Given the description of an element on the screen output the (x, y) to click on. 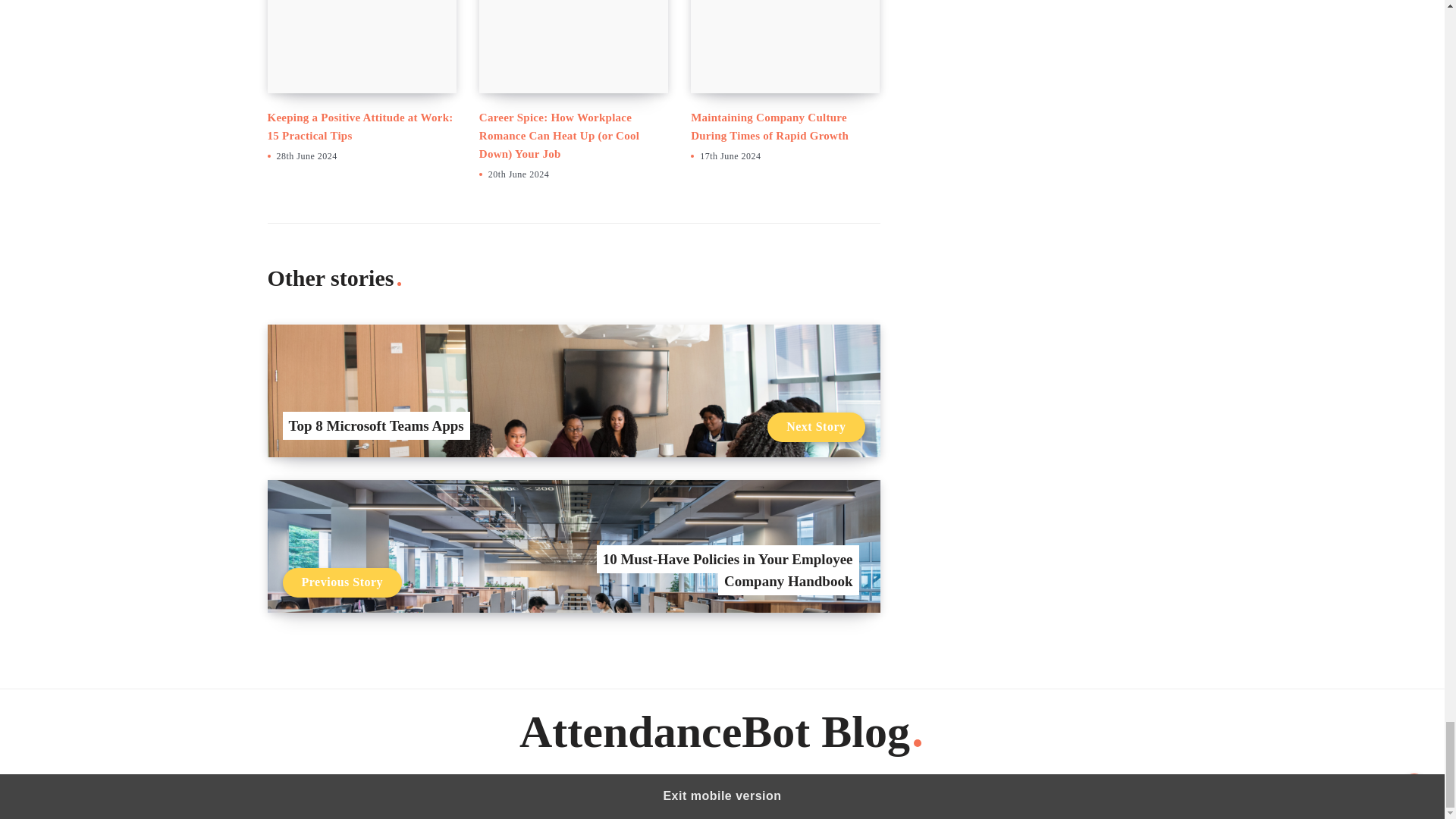
Keeping a Positive Attitude at Work: 15 Practical Tips (359, 126)
Maintaining Company Culture During Times of Rapid Growth (769, 126)
